Given the description of an element on the screen output the (x, y) to click on. 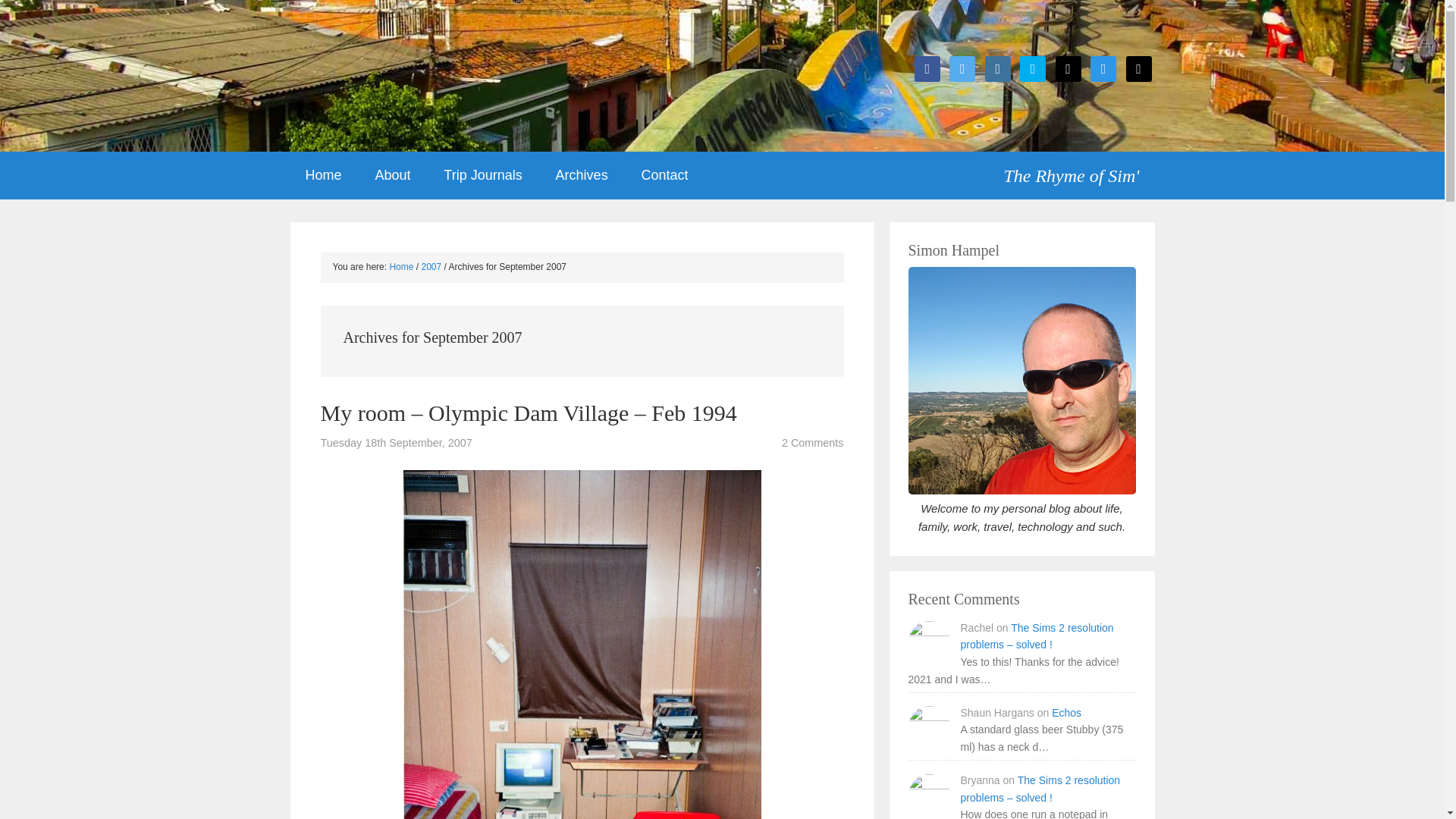
Instagram (997, 67)
linkedin (997, 67)
Archives (581, 175)
About (392, 175)
steam (1138, 67)
twitter (962, 67)
facebook (927, 67)
Blog and Twitter Archives (581, 175)
The Rhyme of Sim' (1078, 170)
Friend me on Facebook (927, 67)
Trip Journals (482, 175)
stackoverflow (1103, 67)
github (1068, 67)
Contact (664, 175)
Follow Me (962, 67)
